Given the description of an element on the screen output the (x, y) to click on. 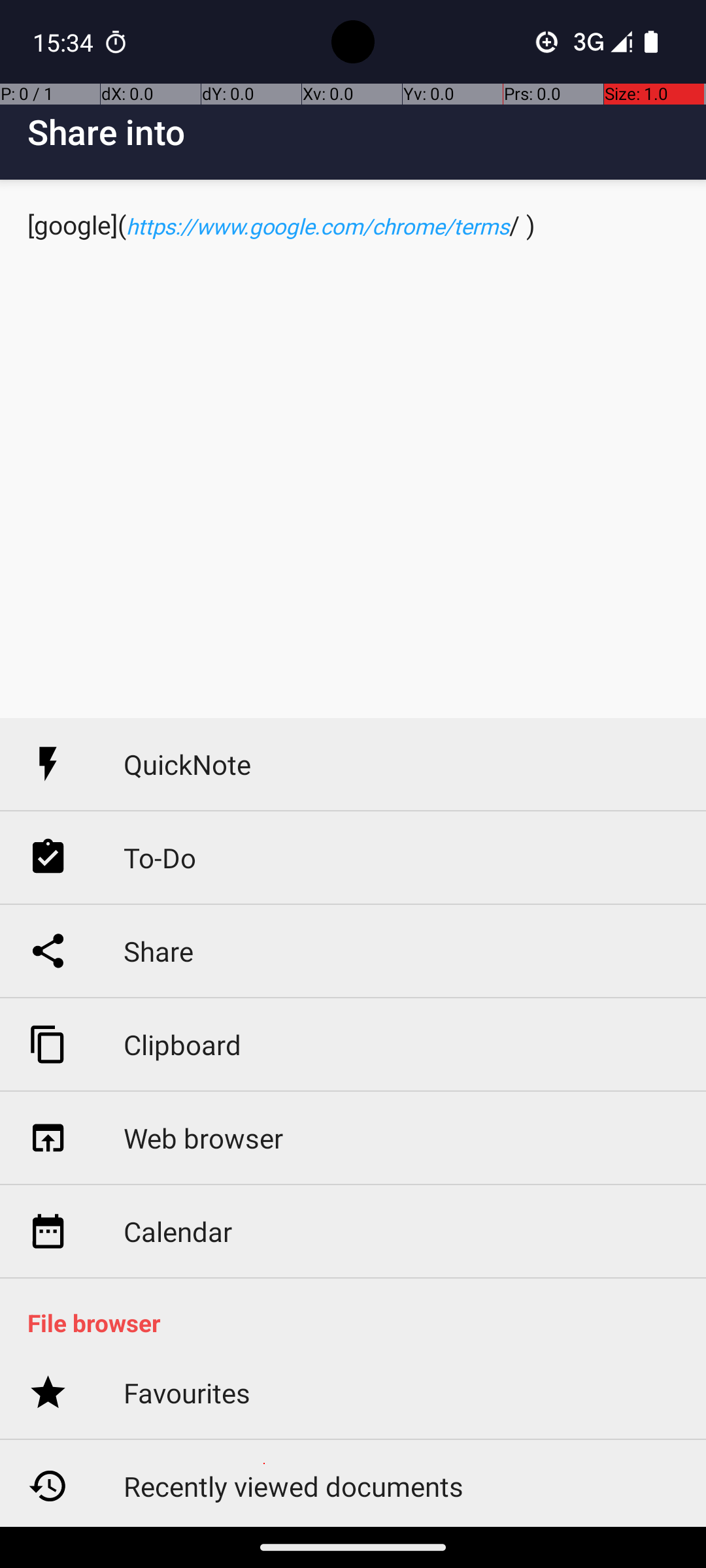
Share into Element type: android.widget.TextView (366, 131)
[google](https://www.google.com/chrome/terms/ ) Element type: android.widget.EditText (353, 448)
File browser Element type: android.widget.TextView (359, 1322)
Web browser Element type: android.widget.TextView (203, 1137)
Favourites Element type: android.widget.TextView (186, 1392)
Recently viewed documents Element type: android.widget.TextView (293, 1485)
